Given the description of an element on the screen output the (x, y) to click on. 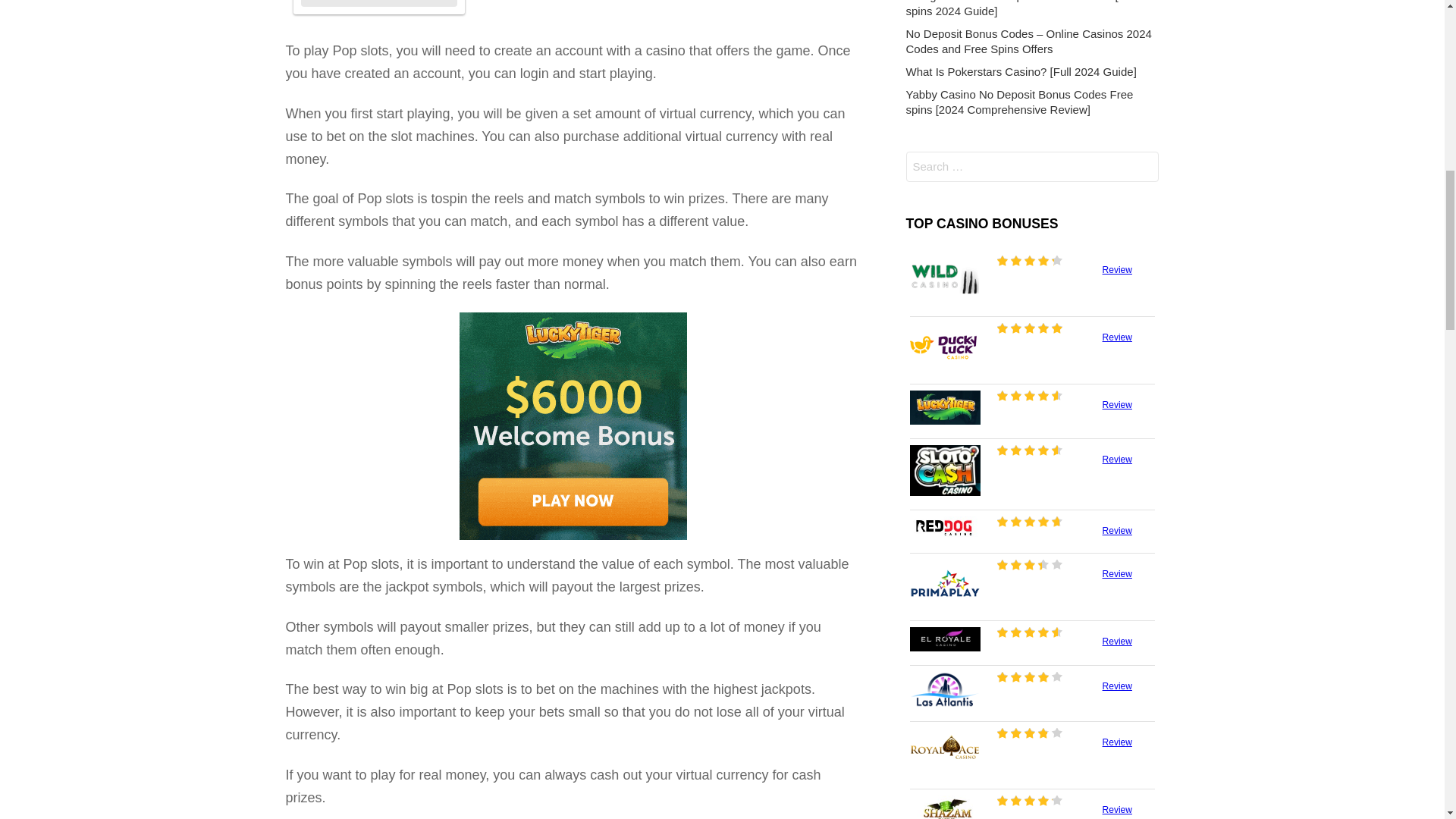
El Royale Casino (945, 639)
Wild Casino (945, 278)
Red Dog casino (945, 527)
Search (951, 196)
Prima Play Casino (945, 582)
Sloto Cash Casino (945, 470)
Lucky Tiger Casino (945, 407)
Search for: (1031, 166)
Ducky Luck (379, 3)
Search (951, 196)
